Given the description of an element on the screen output the (x, y) to click on. 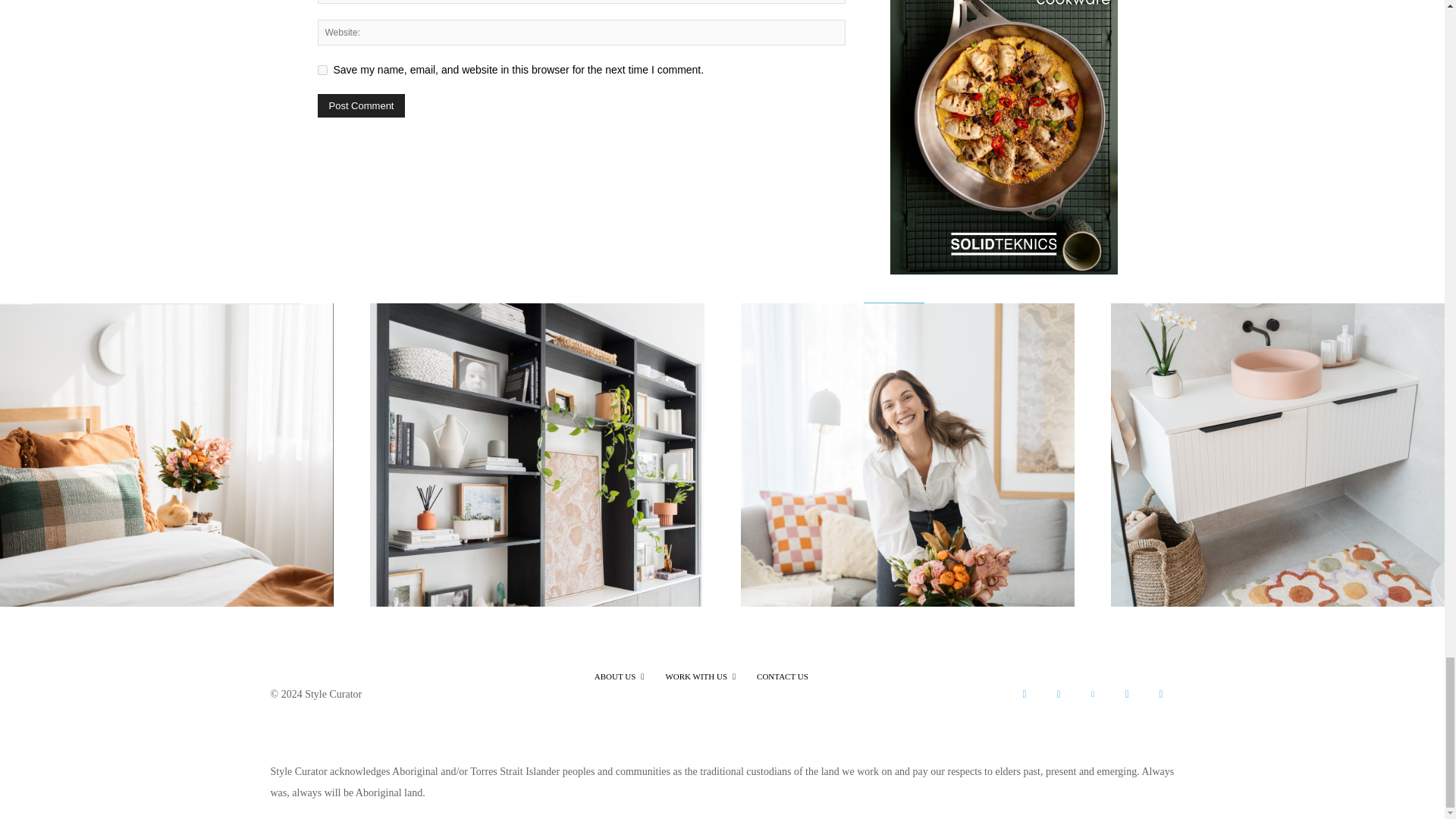
Post Comment (360, 105)
yes (321, 70)
